Given the description of an element on the screen output the (x, y) to click on. 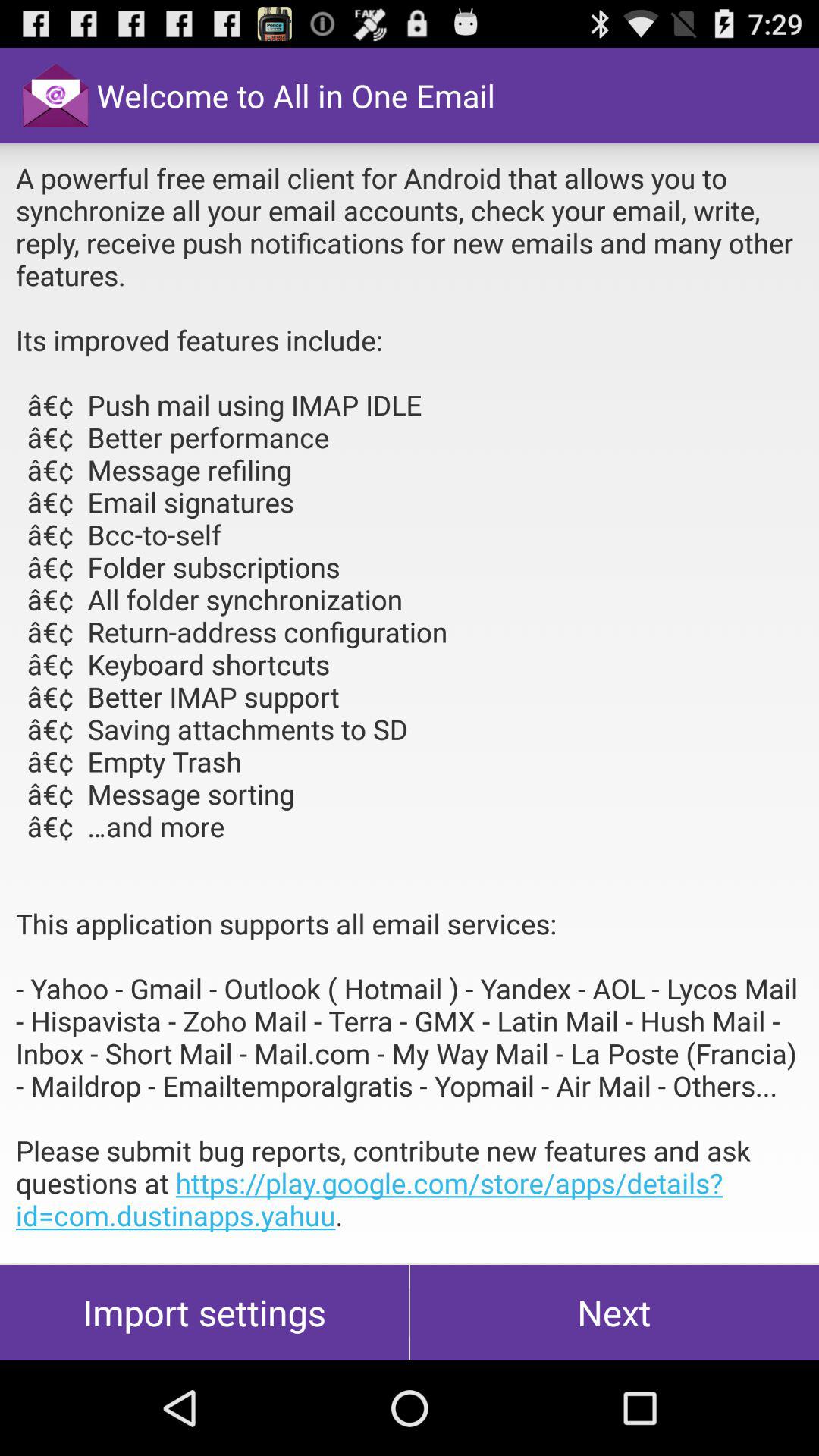
turn off the item at the center (409, 702)
